Given the description of an element on the screen output the (x, y) to click on. 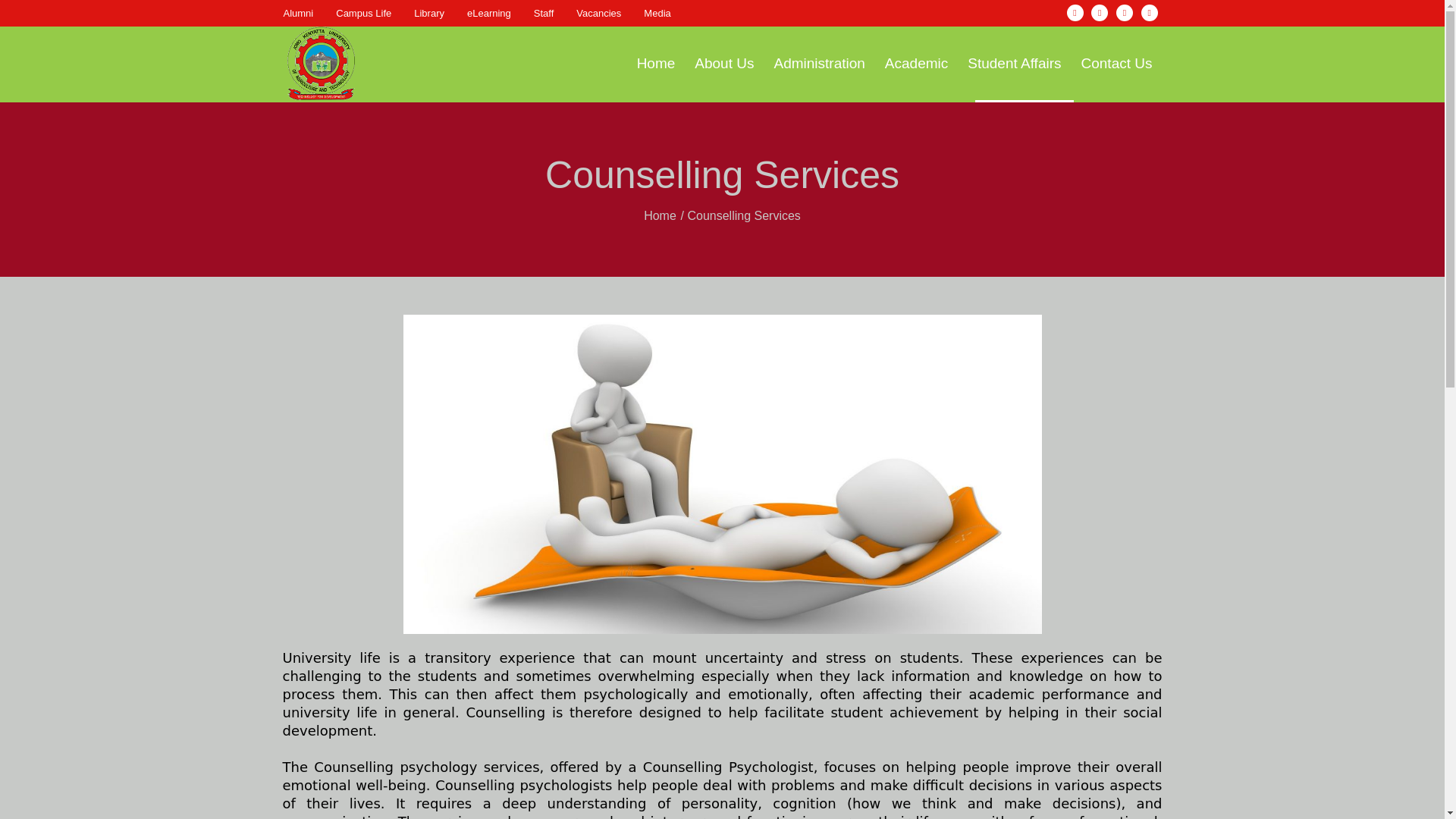
About Us (723, 64)
Library (428, 12)
Vacancies (598, 12)
Twitter (1124, 12)
Alumni (298, 12)
Campus Life (363, 12)
Student Affairs (1014, 64)
YouTube (1149, 12)
Academic (916, 64)
Media (656, 12)
Contact Us (1116, 64)
Home (660, 215)
Administration (818, 64)
Facebook (1075, 12)
Instagram (1099, 12)
